Given the description of an element on the screen output the (x, y) to click on. 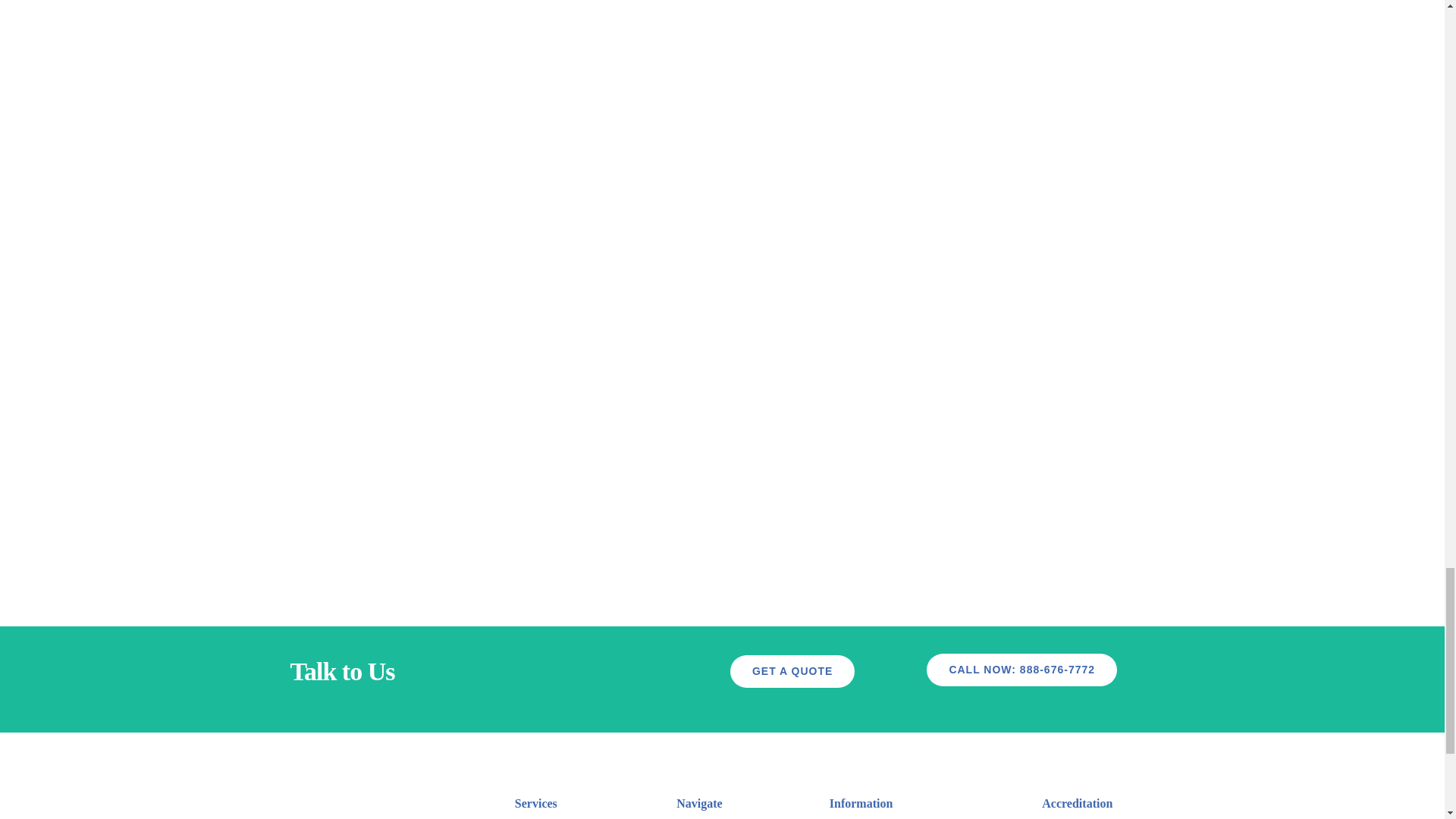
Explore All Of Our Services (792, 671)
airwaves music logo (365, 794)
Explore All Of Our Services (1021, 669)
